Given the description of an element on the screen output the (x, y) to click on. 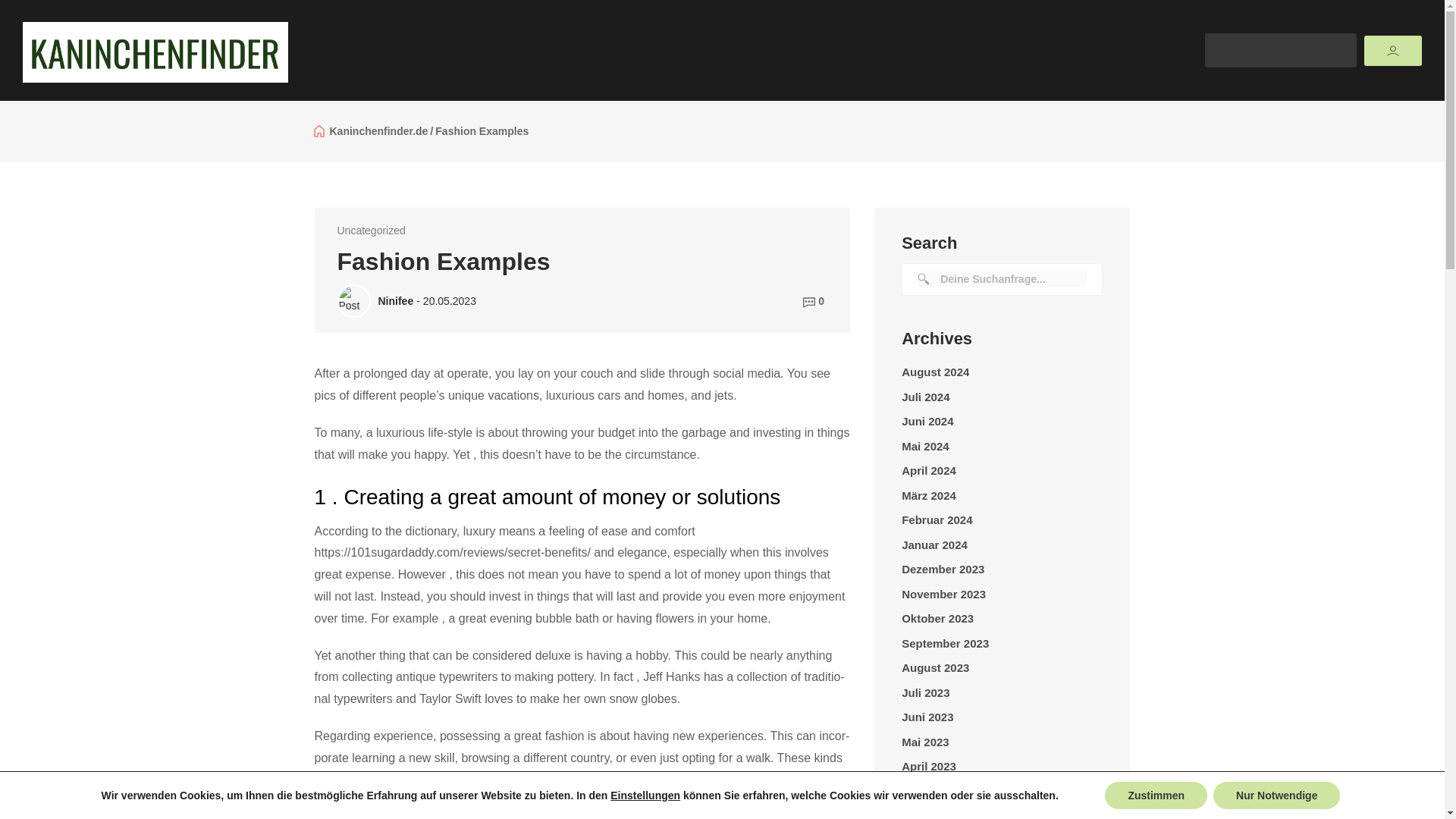
Juni 2023 (927, 717)
Oktober 2023 (937, 619)
Uncategorized (370, 230)
Juli 2024 (925, 397)
0 (815, 301)
20.05.2023 (449, 300)
Mai 2023 (925, 742)
April 2023 (928, 766)
Juni 2024 (927, 421)
April 2024 (928, 470)
